Given the description of an element on the screen output the (x, y) to click on. 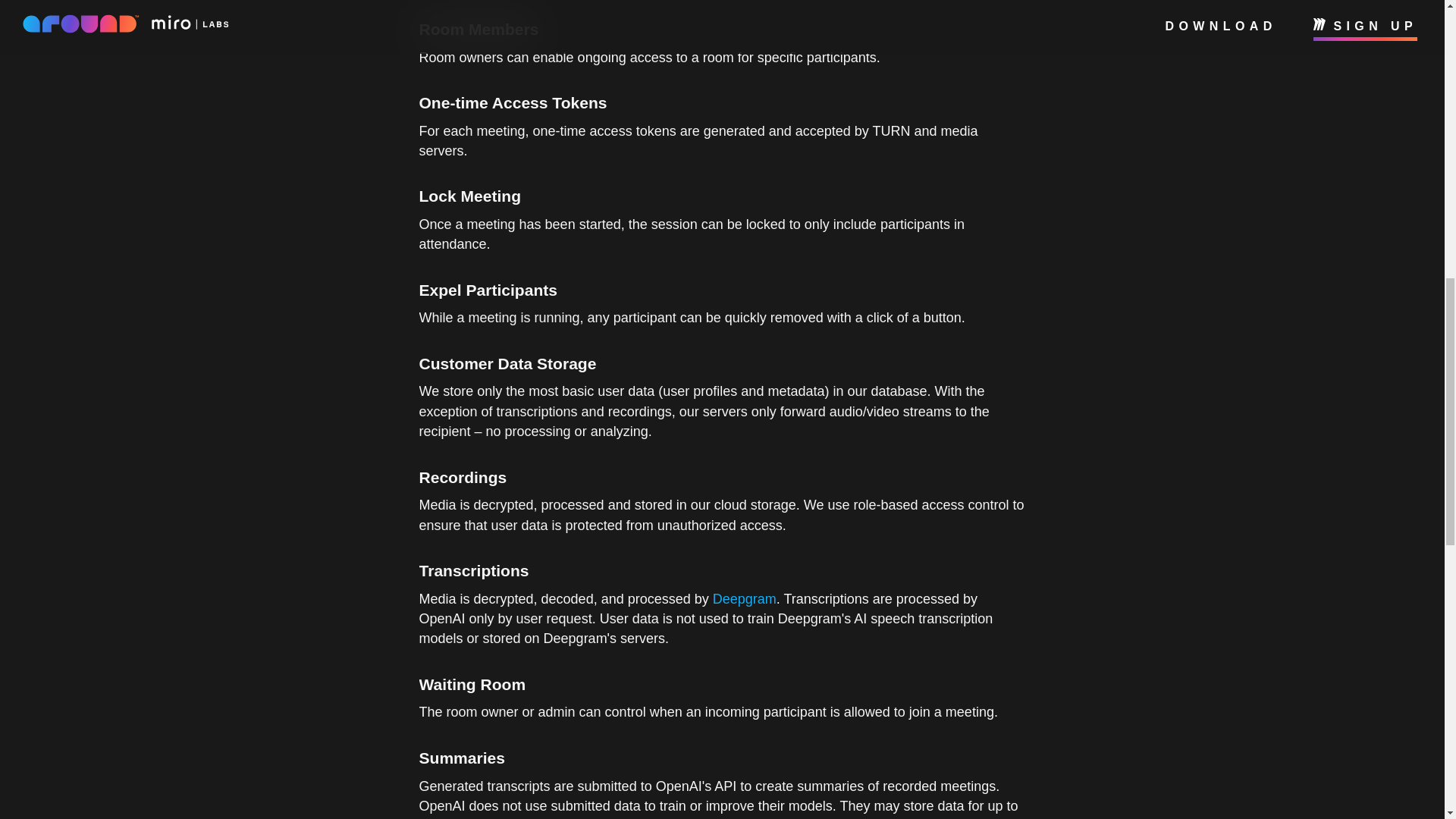
Deepgram (744, 598)
